Given the description of an element on the screen output the (x, y) to click on. 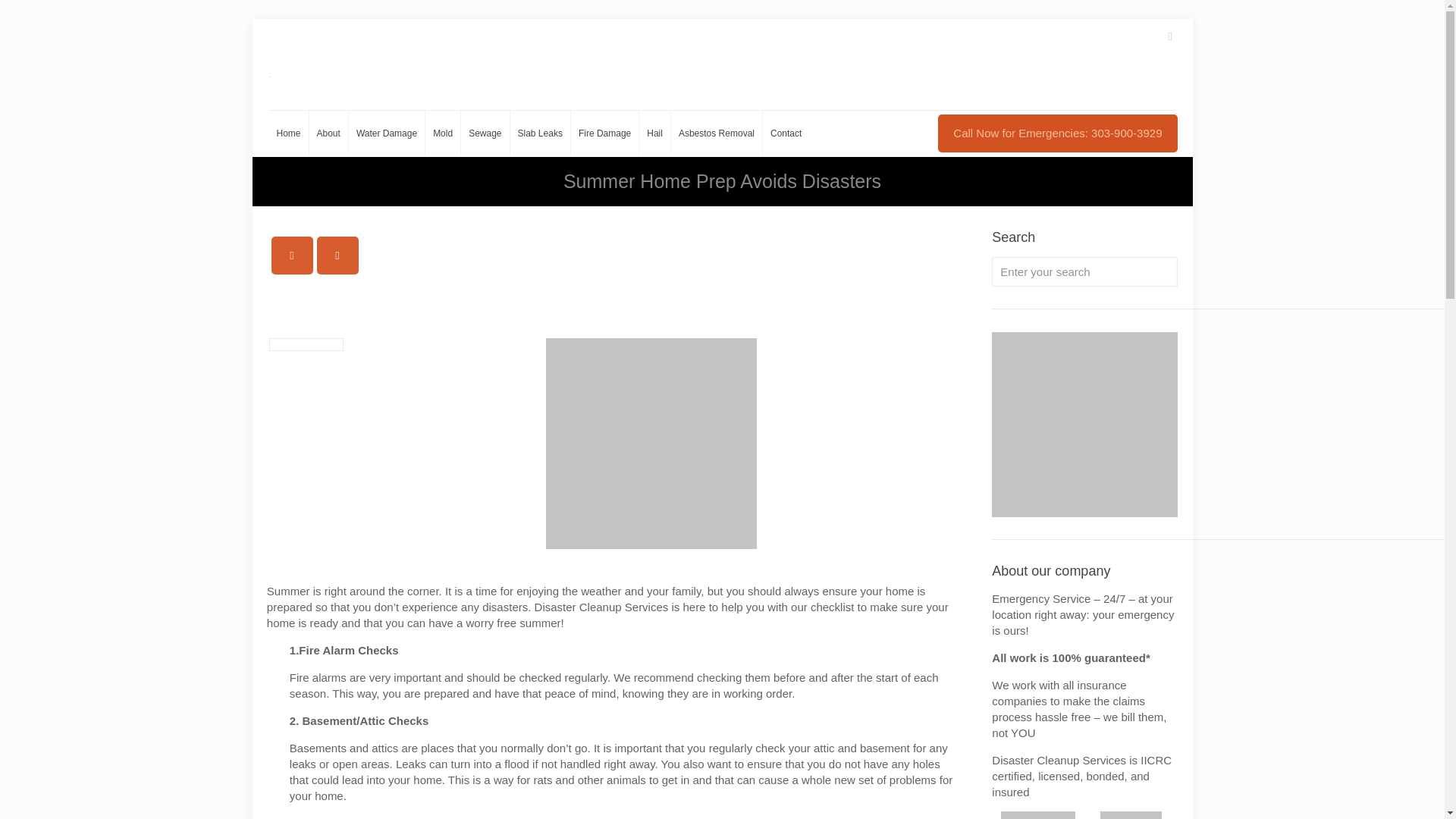
Fire Damage (604, 133)
Contact (785, 133)
Water Damage (387, 133)
Slab Leaks (540, 133)
Call Now for Emergencies: 303-900-3929 (1056, 133)
Sewage (485, 133)
Asbestos Removal (716, 133)
